Given the description of an element on the screen output the (x, y) to click on. 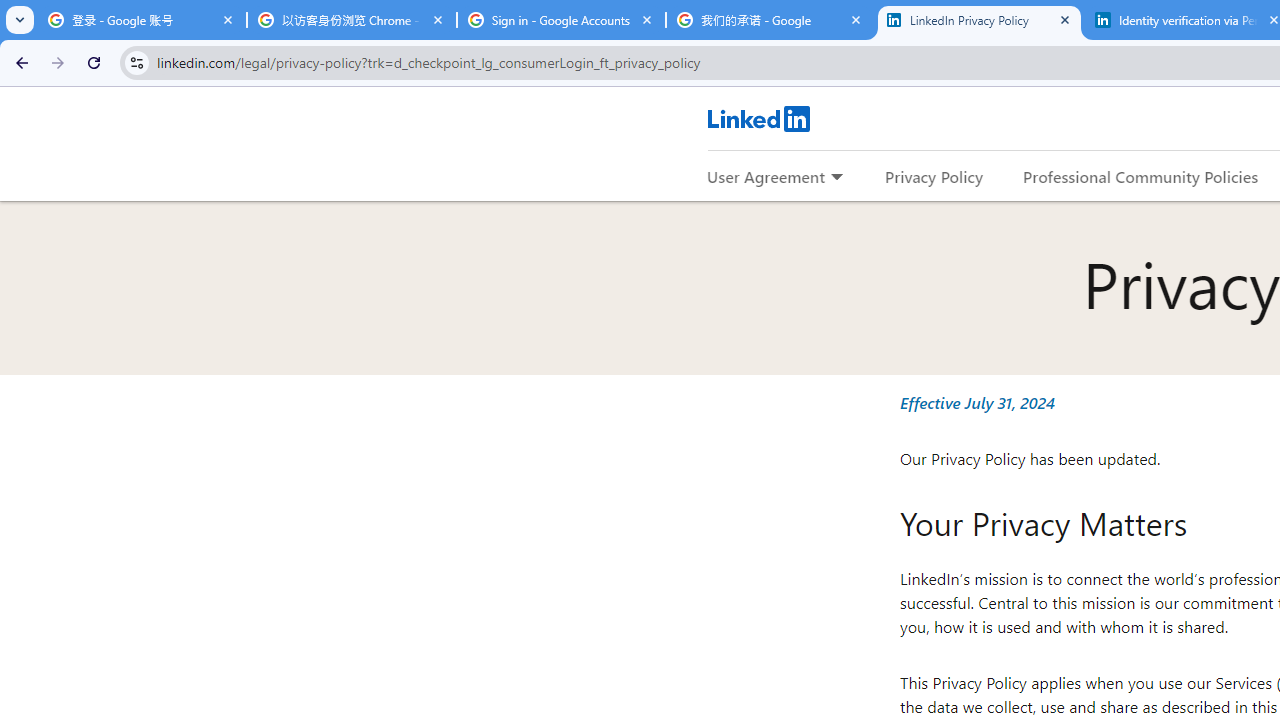
Professional Community Policies (1140, 176)
Effective July 31, 2024 (976, 402)
LinkedIn Privacy Policy (979, 20)
Expand to show more links for User Agreement (836, 178)
Sign in - Google Accounts (561, 20)
LinkedIn Logo (758, 118)
